Given the description of an element on the screen output the (x, y) to click on. 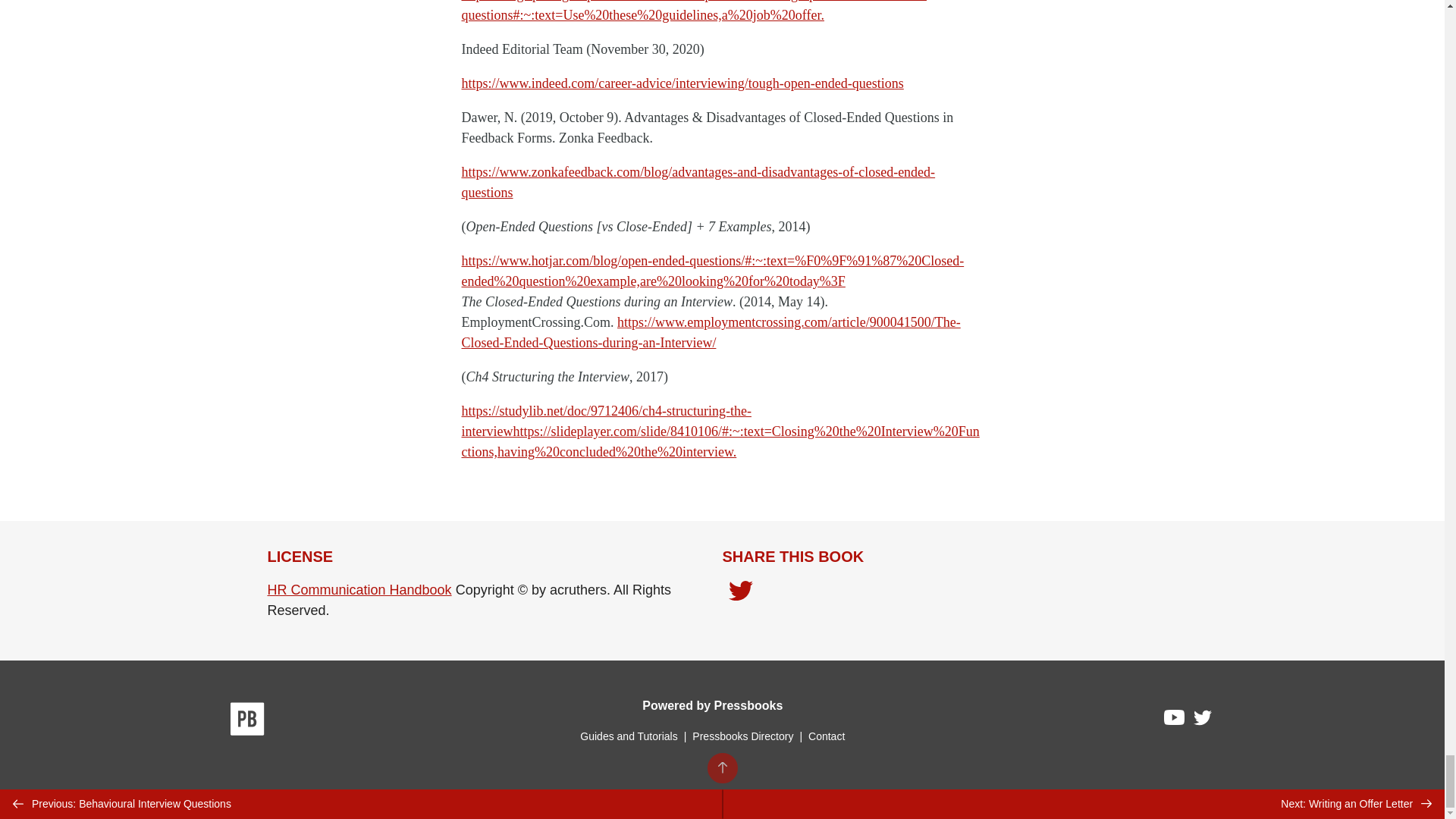
Pressbooks Directory (742, 736)
Share on Twitter (740, 594)
Guides and Tutorials (627, 736)
HR Communication Handbook (358, 589)
Powered by Pressbooks (712, 705)
Share on Twitter (740, 591)
